Given the description of an element on the screen output the (x, y) to click on. 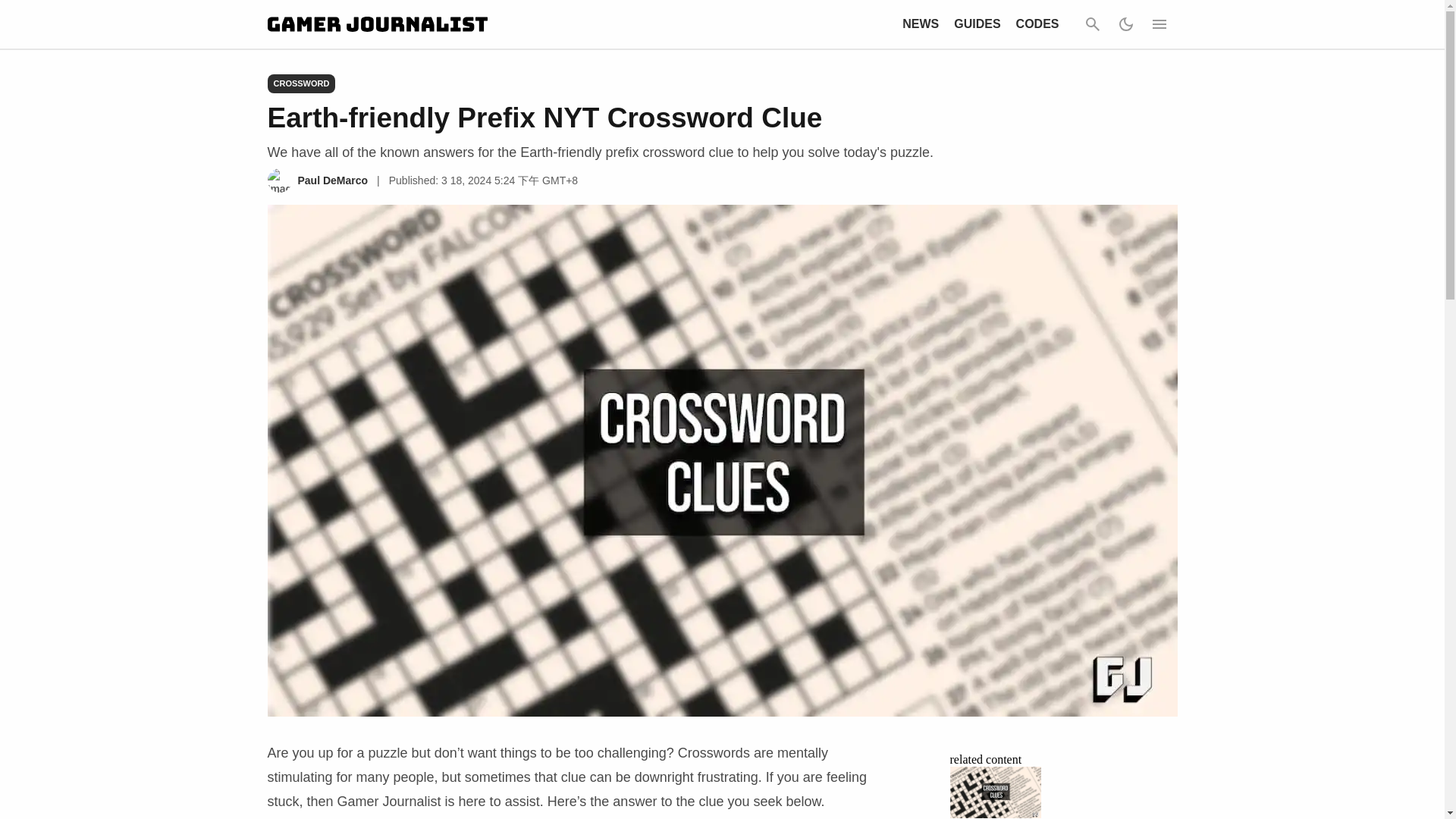
GUIDES (976, 23)
Dark Mode (1124, 24)
NEWS (920, 23)
Expand Menu (1157, 24)
Search (1091, 24)
CODES (1037, 23)
